Given the description of an element on the screen output the (x, y) to click on. 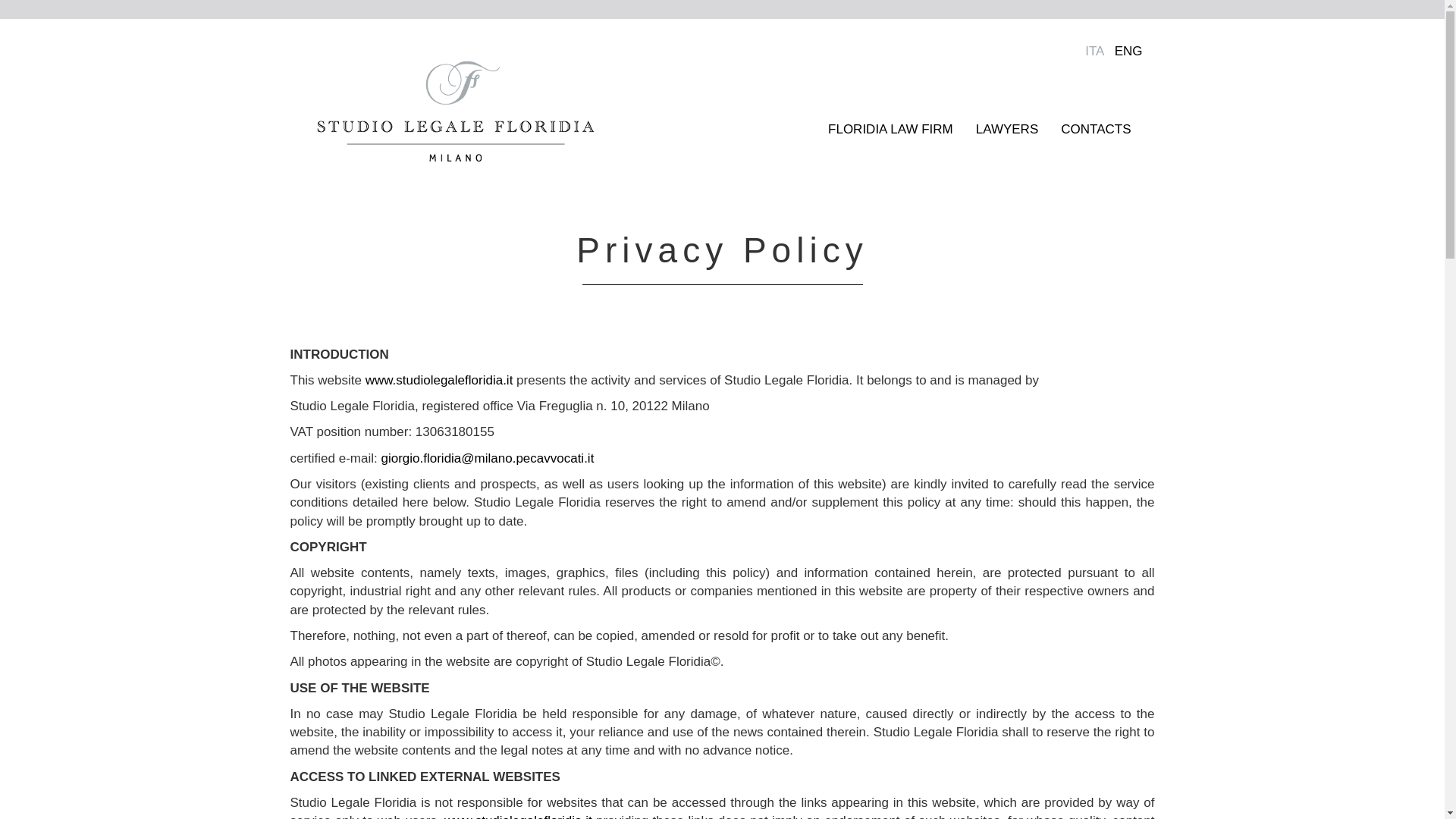
www.studiolegalefloridia.it (439, 380)
CONTACTS (1095, 129)
LAWYERS (1006, 129)
FLORIDIA LAW FIRM (889, 129)
www.studiolegalefloridia.it (518, 816)
ENG (1128, 51)
ITA (1093, 51)
